Given the description of an element on the screen output the (x, y) to click on. 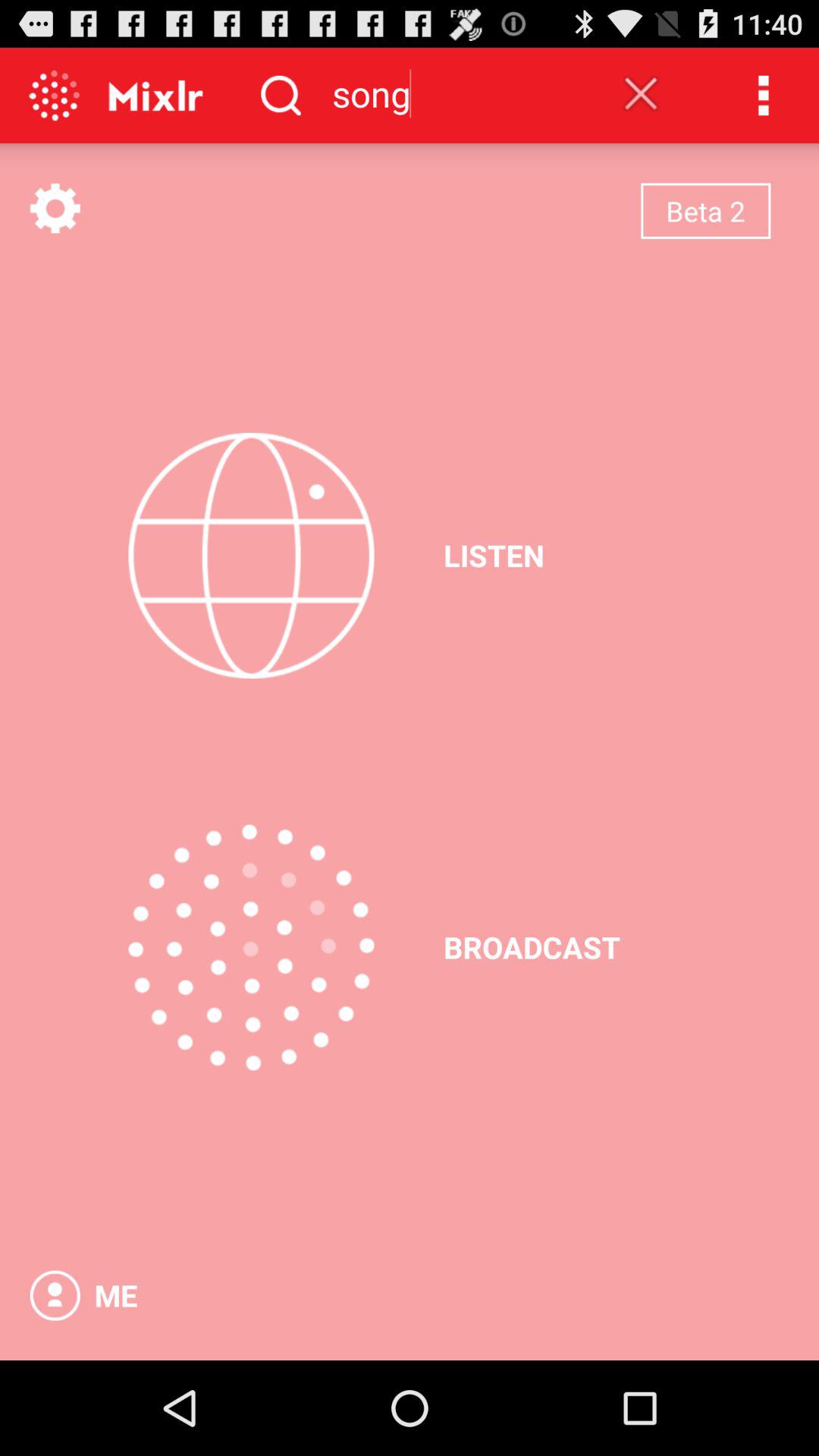
play music (251, 555)
